Given the description of an element on the screen output the (x, y) to click on. 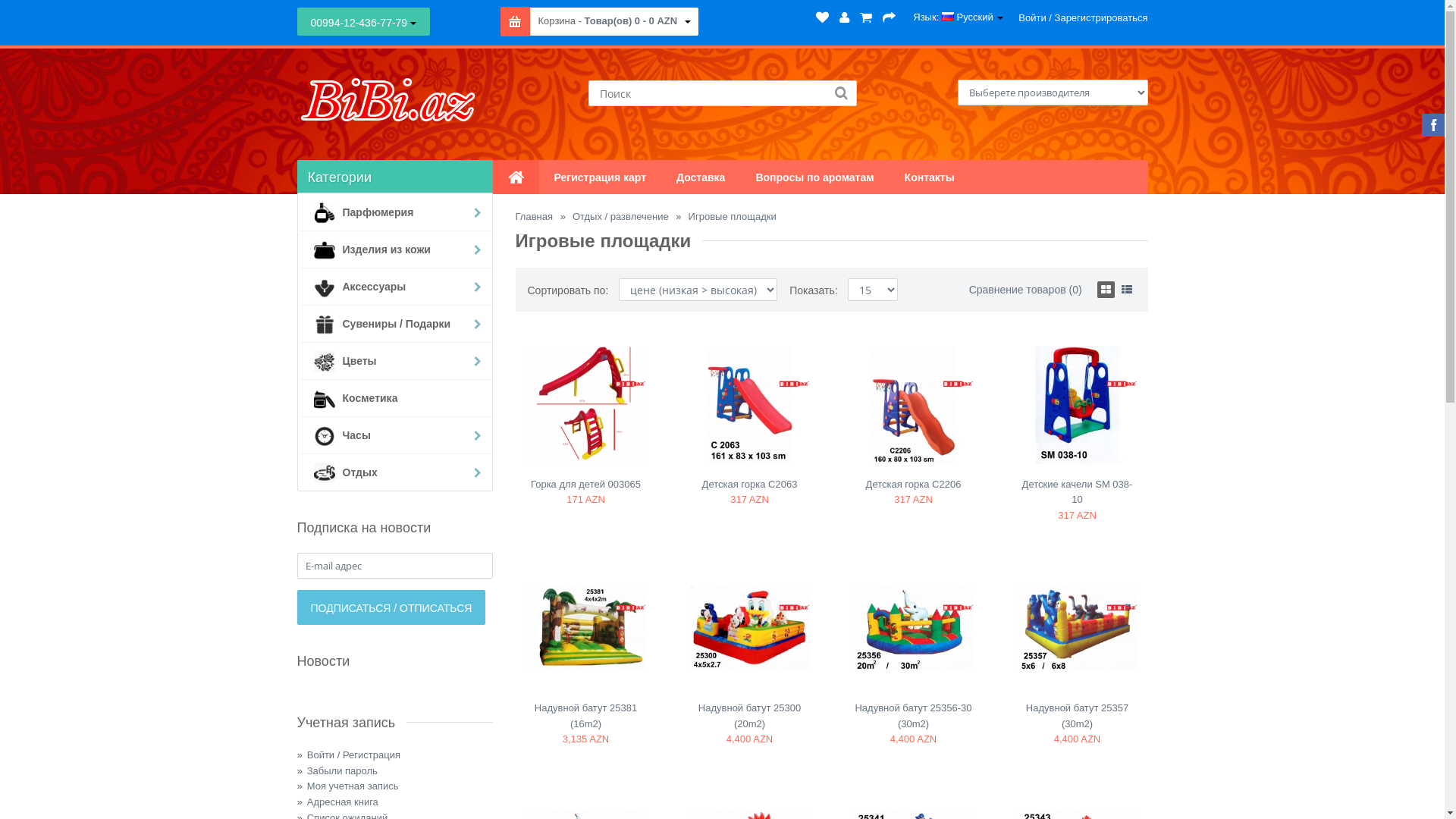
List Element type: hover (1126, 289)
00994-12-436-77-79 Element type: text (363, 21)
Grid Element type: hover (1105, 289)
